Given the description of an element on the screen output the (x, y) to click on. 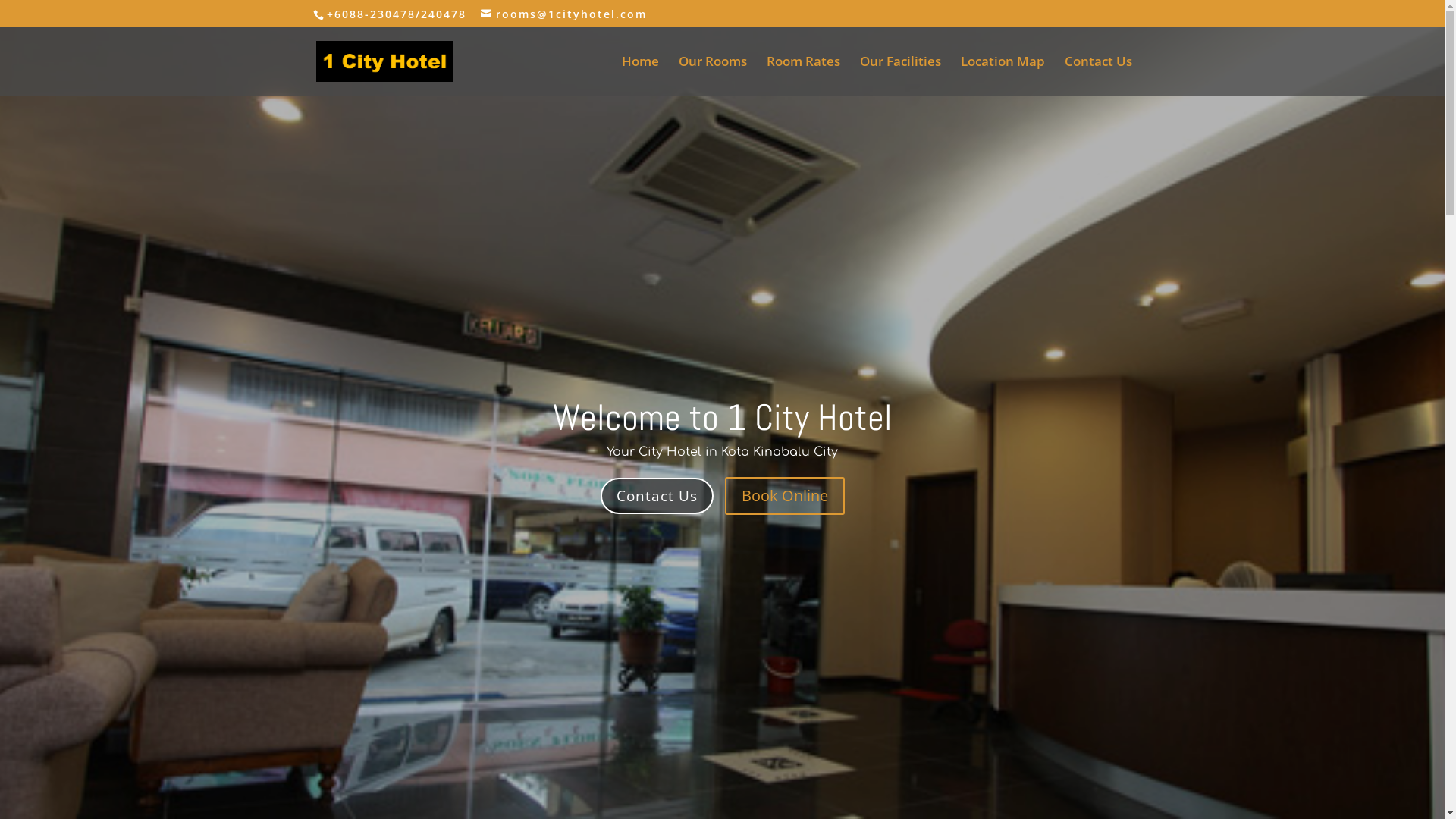
Home Element type: text (639, 75)
Location Map Element type: text (1002, 75)
rooms@1cityhotel.com Element type: text (563, 13)
Book Online Element type: text (784, 495)
Contact Us Element type: text (1098, 75)
Room Rates Element type: text (802, 75)
Contact Us Element type: text (656, 495)
Our Facilities Element type: text (900, 75)
Our Rooms Element type: text (711, 75)
